Given the description of an element on the screen output the (x, y) to click on. 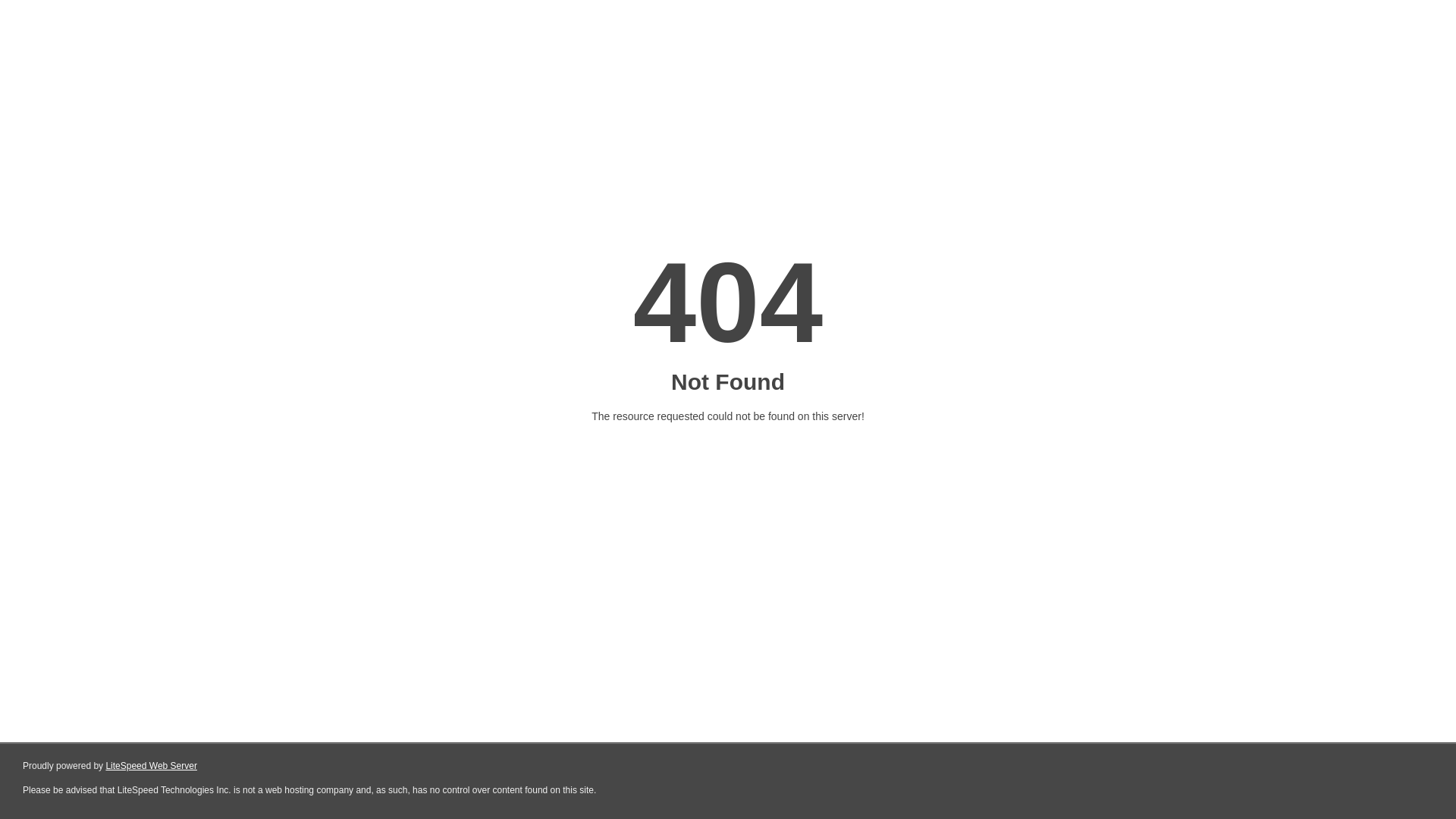
LiteSpeed Web Server Element type: text (151, 765)
